Given the description of an element on the screen output the (x, y) to click on. 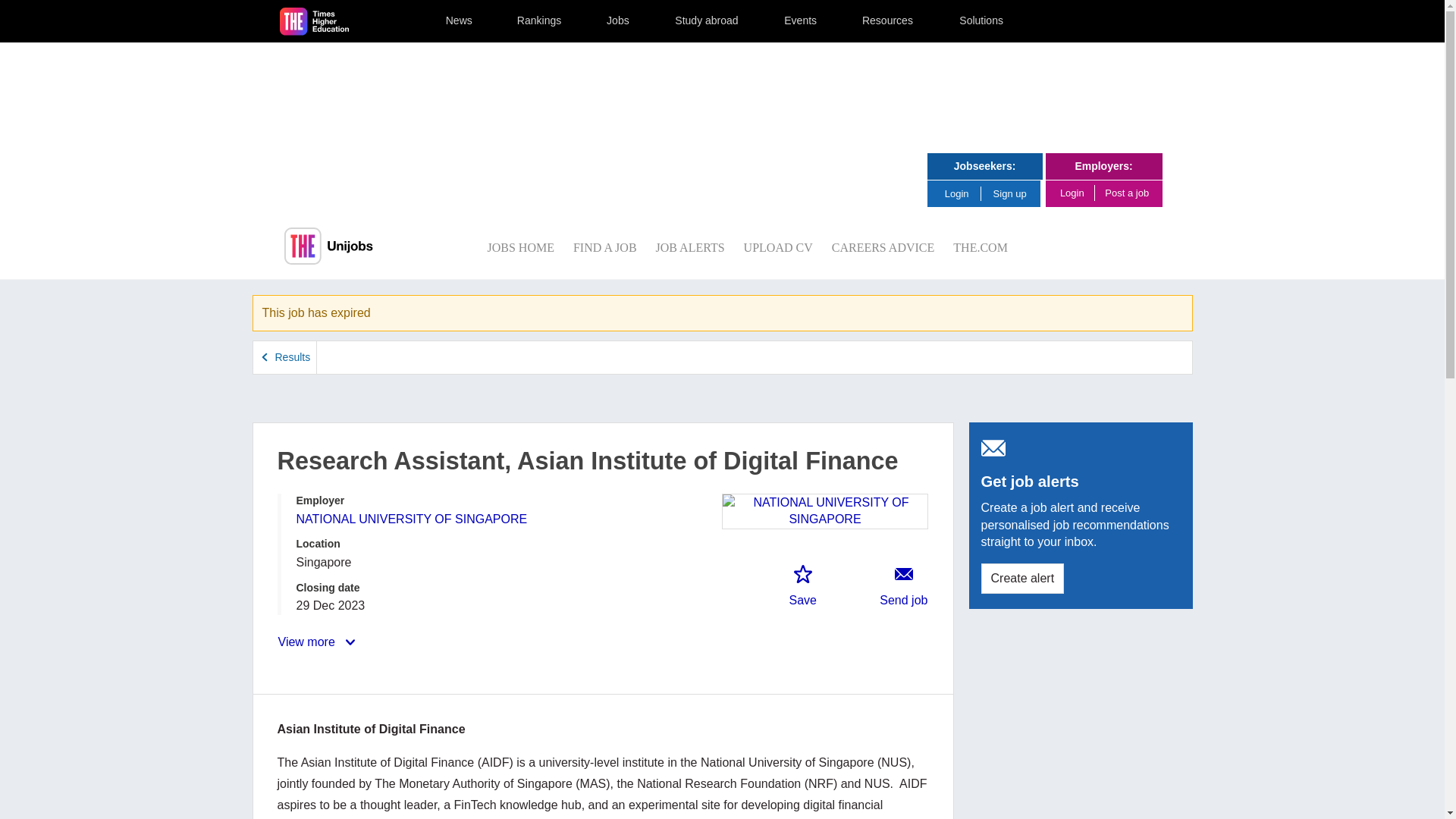
JOB ALERTS (690, 246)
UPLOAD CV (778, 246)
Sign up (1010, 194)
Jobs (617, 21)
Resources (888, 21)
Results (285, 357)
Events (800, 21)
Solutions (981, 21)
Rankings (540, 21)
Study abroad (705, 21)
